Given the description of an element on the screen output the (x, y) to click on. 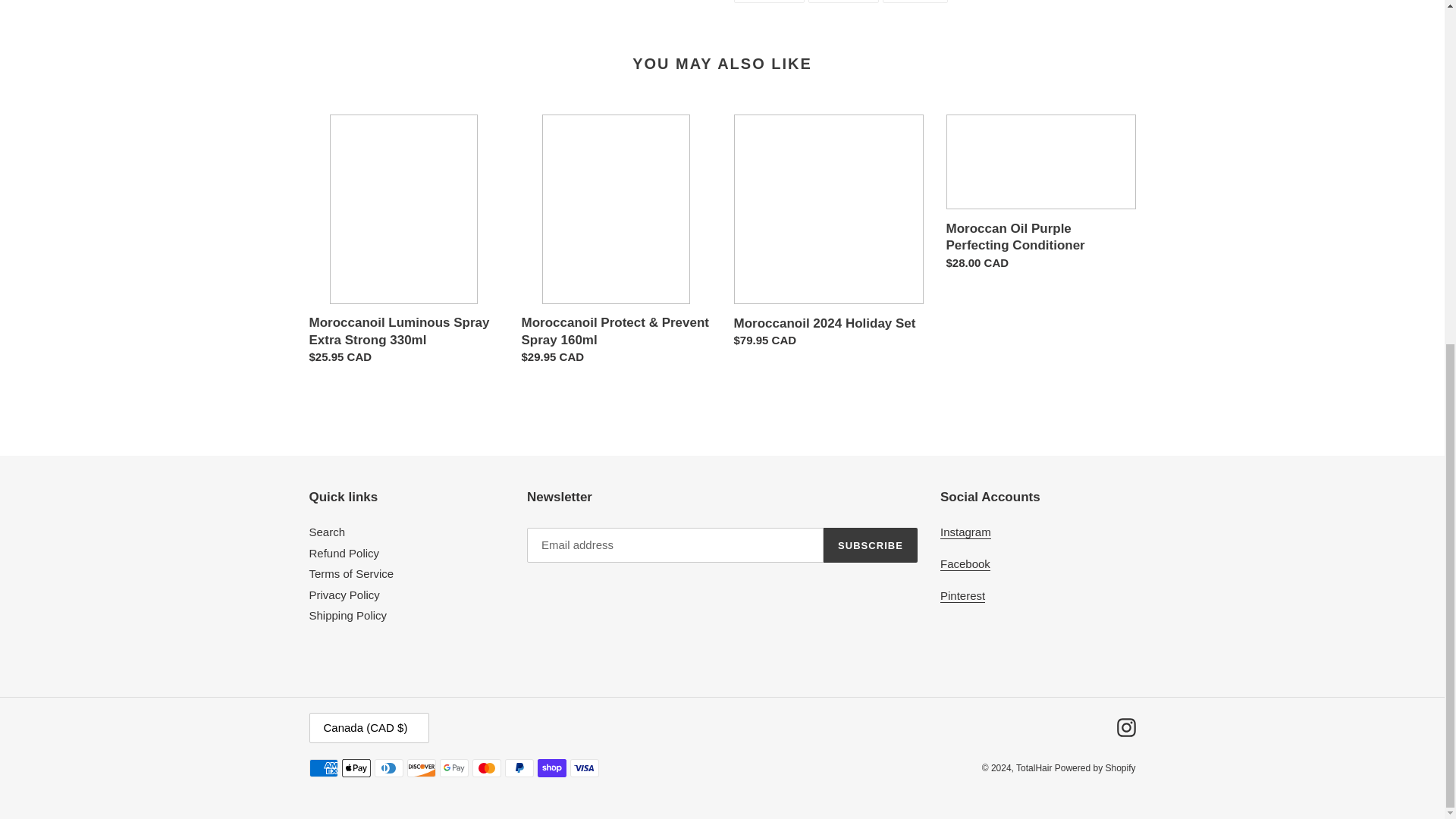
Moroccan Oil Purple Perfecting Conditioner (1040, 196)
Instagram (914, 1)
SUBSCRIBE (965, 531)
Moroccanoil Luminous Spray Extra Strong 330ml (870, 544)
Pinterest (403, 243)
Privacy Policy (962, 595)
Moroccanoil 2024 Holiday Set (843, 1)
Facebook (344, 594)
Shipping Policy (769, 1)
Terms of Service (828, 234)
Search (965, 563)
Refund Policy (347, 615)
